Given the description of an element on the screen output the (x, y) to click on. 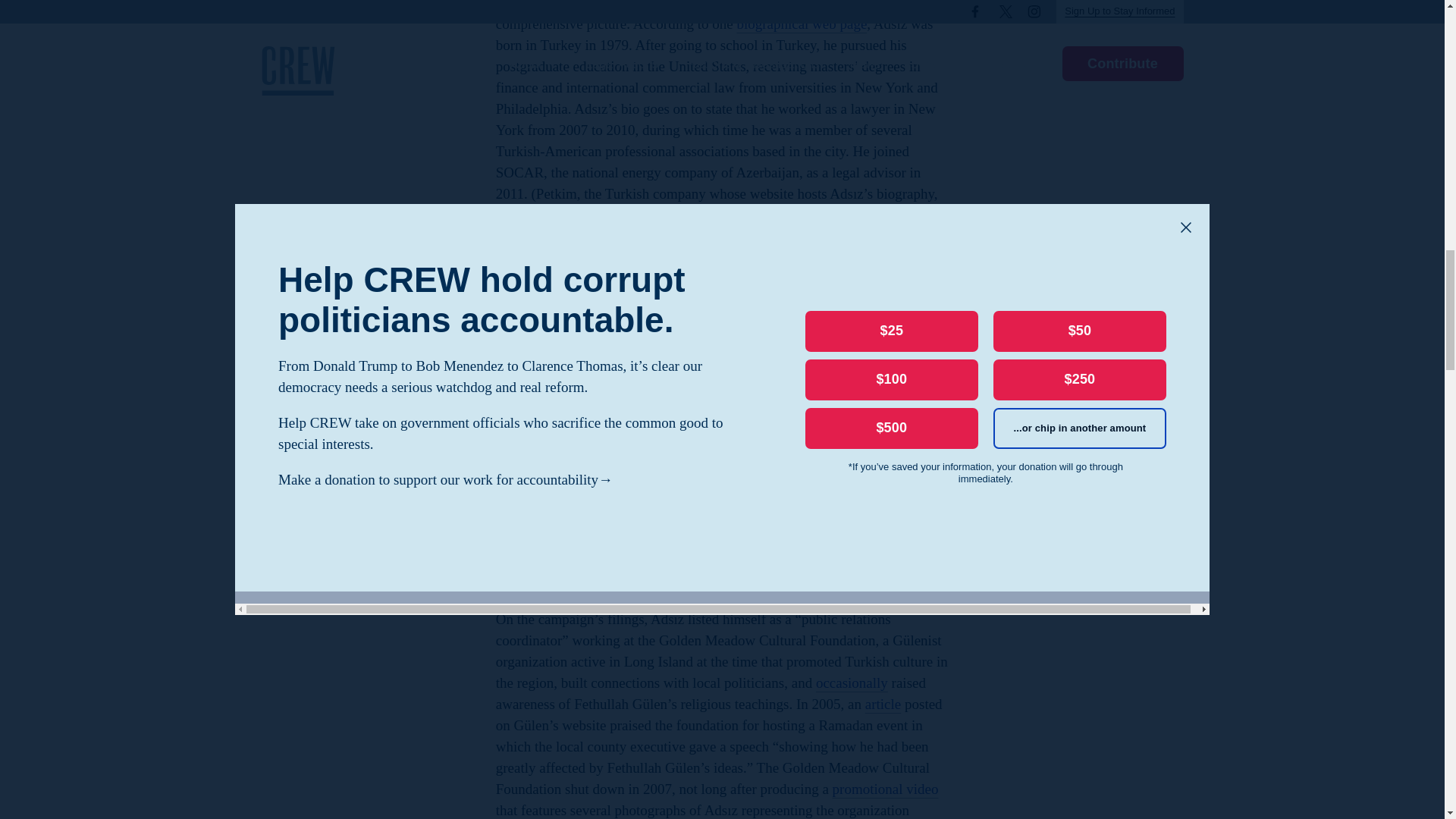
Turkish (921, 413)
volunteered (677, 597)
occasionally (851, 682)
biographical web page (801, 23)
Azeri (535, 434)
article (882, 703)
promotional video (885, 788)
